Given the description of an element on the screen output the (x, y) to click on. 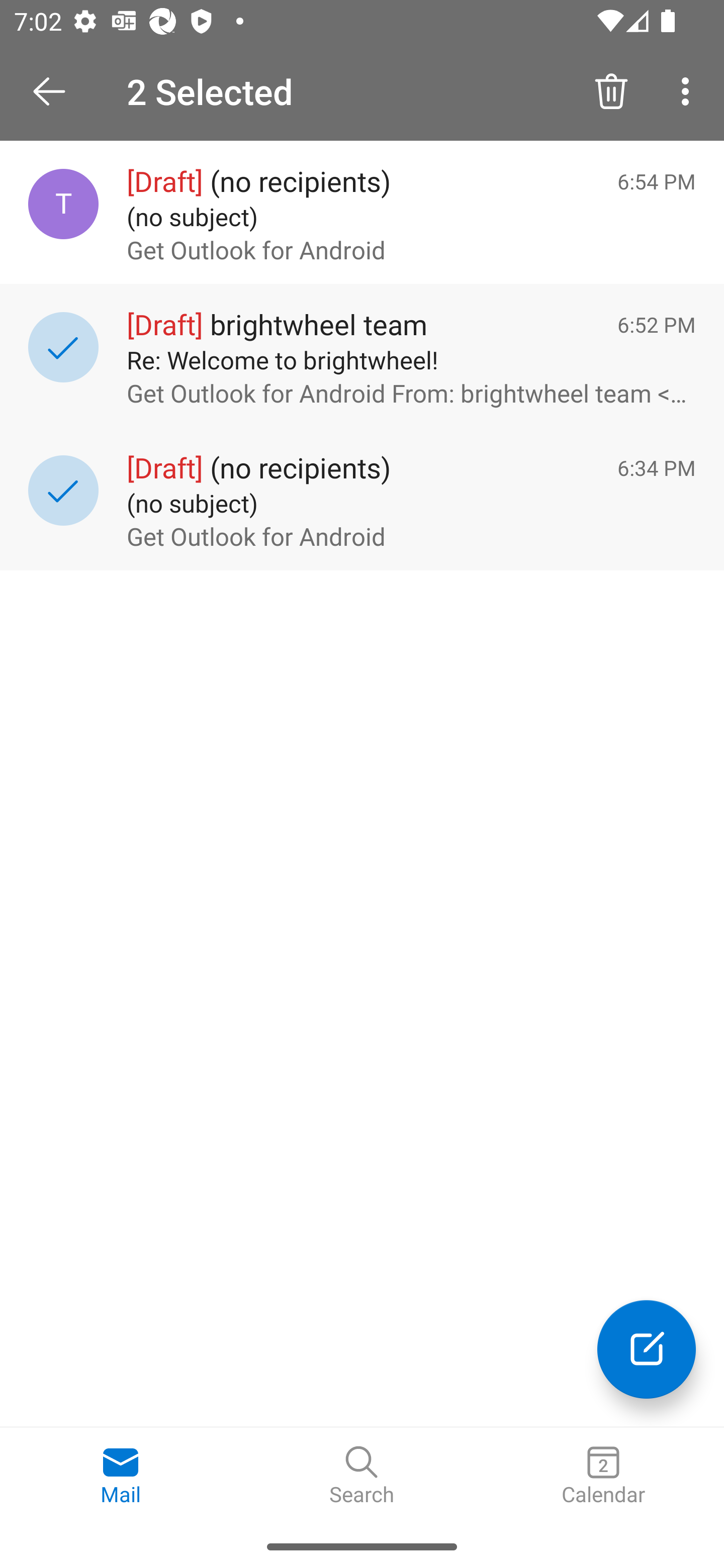
Delete (611, 90)
More options (688, 90)
Open Navigation Drawer (55, 91)
testappium001@outlook.com (63, 204)
Compose (646, 1348)
Search (361, 1475)
Calendar (603, 1475)
